Given the description of an element on the screen output the (x, y) to click on. 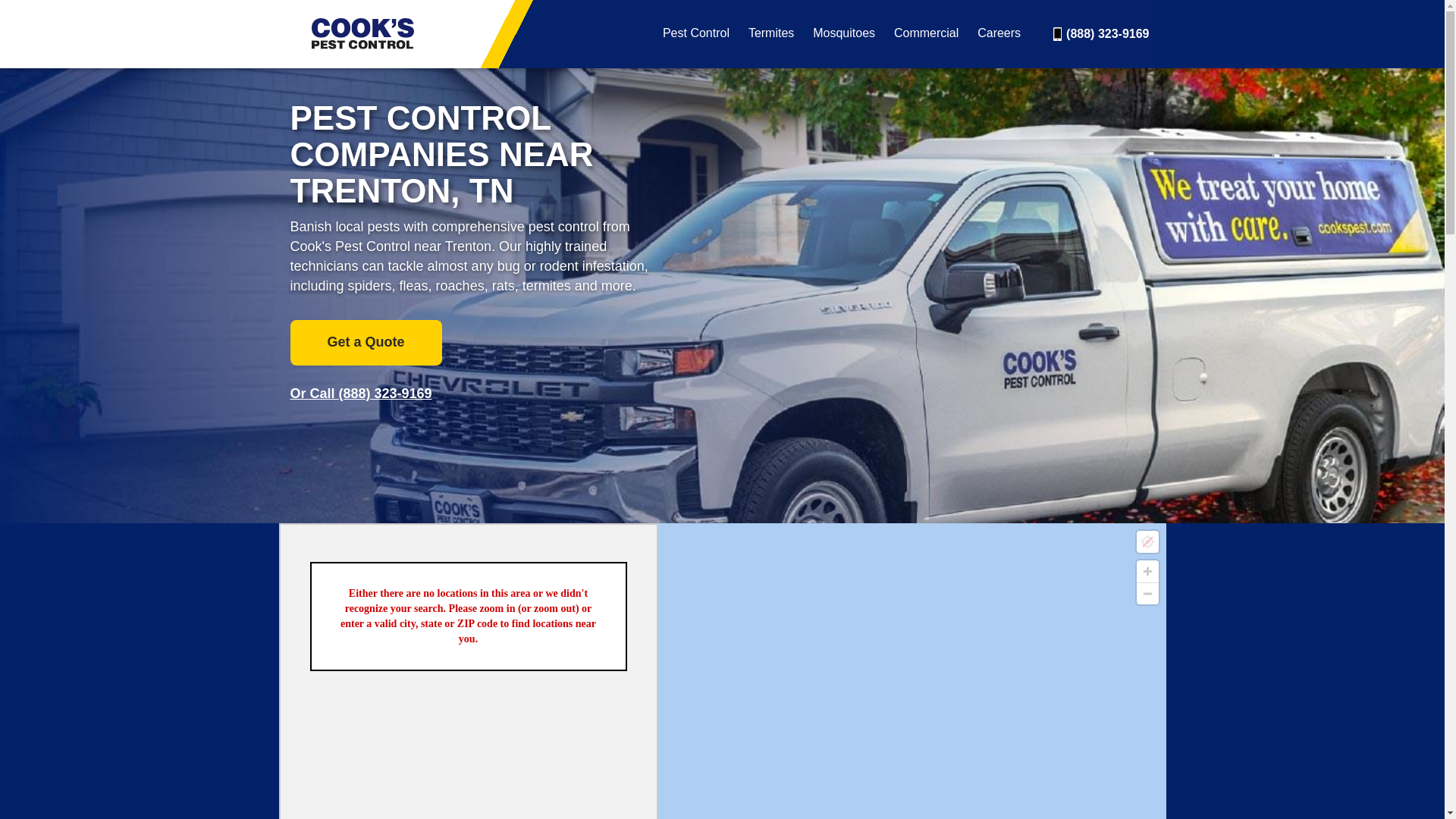
Careers (999, 33)
Zoom out (1146, 593)
Mosquitoes (843, 33)
Find my location (1146, 541)
Commercial (925, 33)
Zoom in (1146, 571)
Termites (770, 33)
Get a Quote (365, 342)
Pest Control (695, 33)
